Given the description of an element on the screen output the (x, y) to click on. 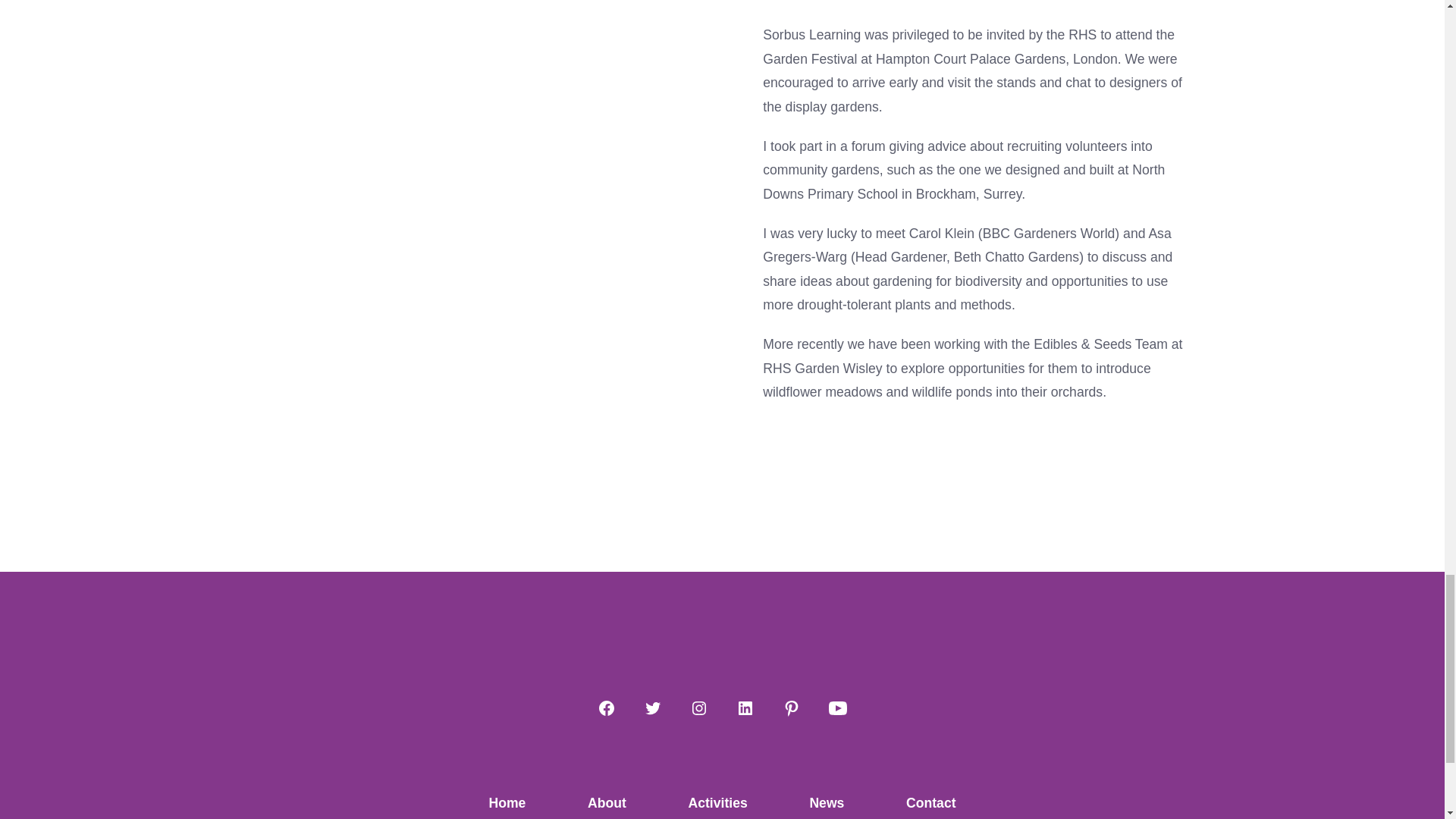
Open Instagram in a new tab (699, 708)
Activities (717, 803)
Open YouTube in a new tab (837, 708)
News (826, 803)
Open LinkedIn in a new tab (745, 708)
Home (507, 803)
About (607, 803)
Open Facebook in a new tab (606, 708)
Open Twitter in a new tab (652, 708)
Open Pinterest in a new tab (791, 708)
Contact (931, 803)
